Given the description of an element on the screen output the (x, y) to click on. 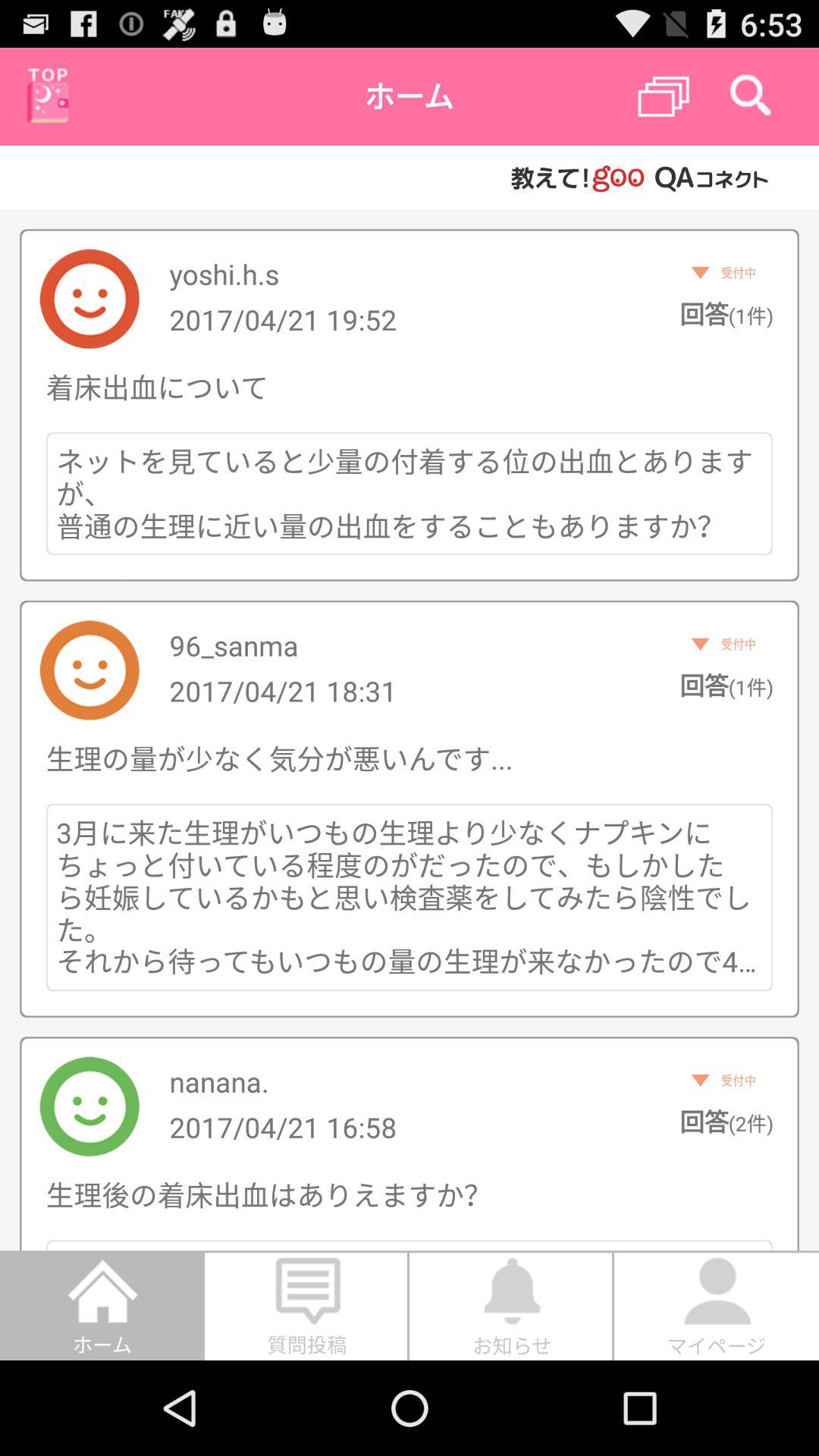
press the icon above the 2017 04 21 icon (233, 645)
